Given the description of an element on the screen output the (x, y) to click on. 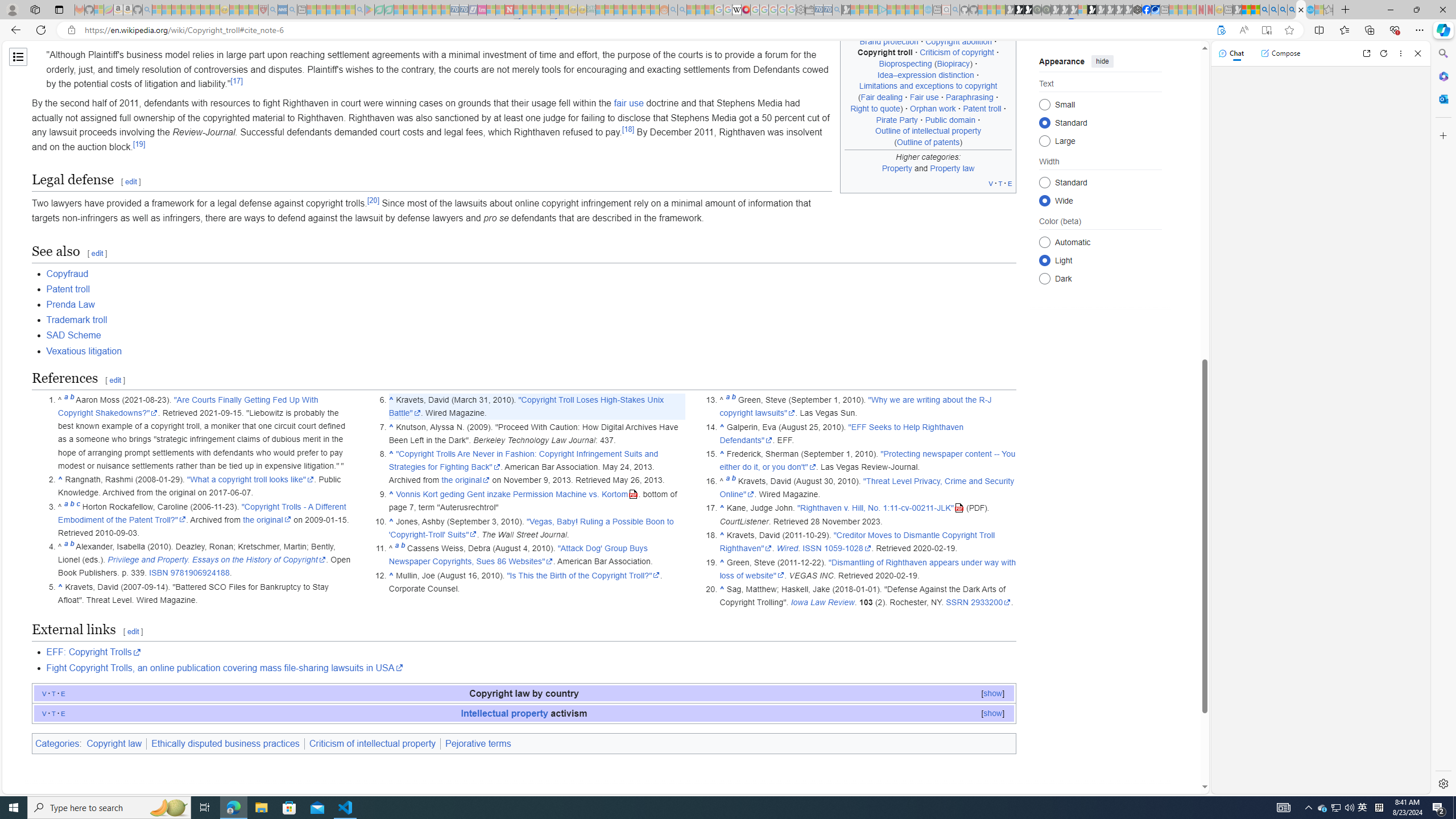
Outline of intellectual property (Outline of patents) (928, 136)
Categories (57, 742)
Wallet - Sleeping (809, 9)
[show] (992, 712)
Utah sues federal government - Search - Sleeping (681, 9)
Property (896, 167)
Robert H. Shmerling, MD - Harvard Health - Sleeping (263, 9)
Microsoft Start Gaming - Sleeping (846, 9)
utah sues federal government - Search - Sleeping (291, 9)
Nordace - Cooler Bags (1137, 9)
